Given the description of an element on the screen output the (x, y) to click on. 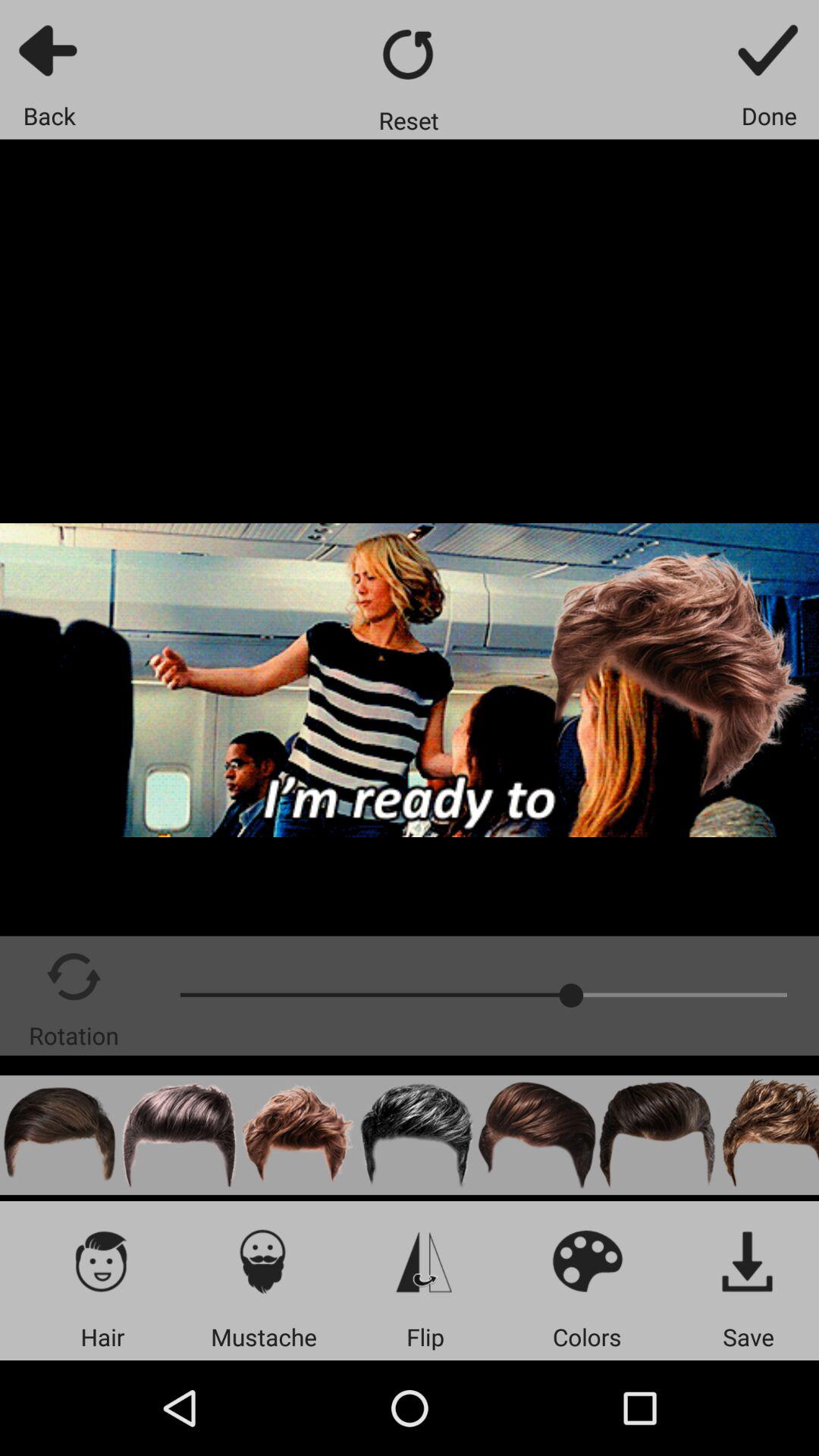
save (748, 1260)
